Given the description of an element on the screen output the (x, y) to click on. 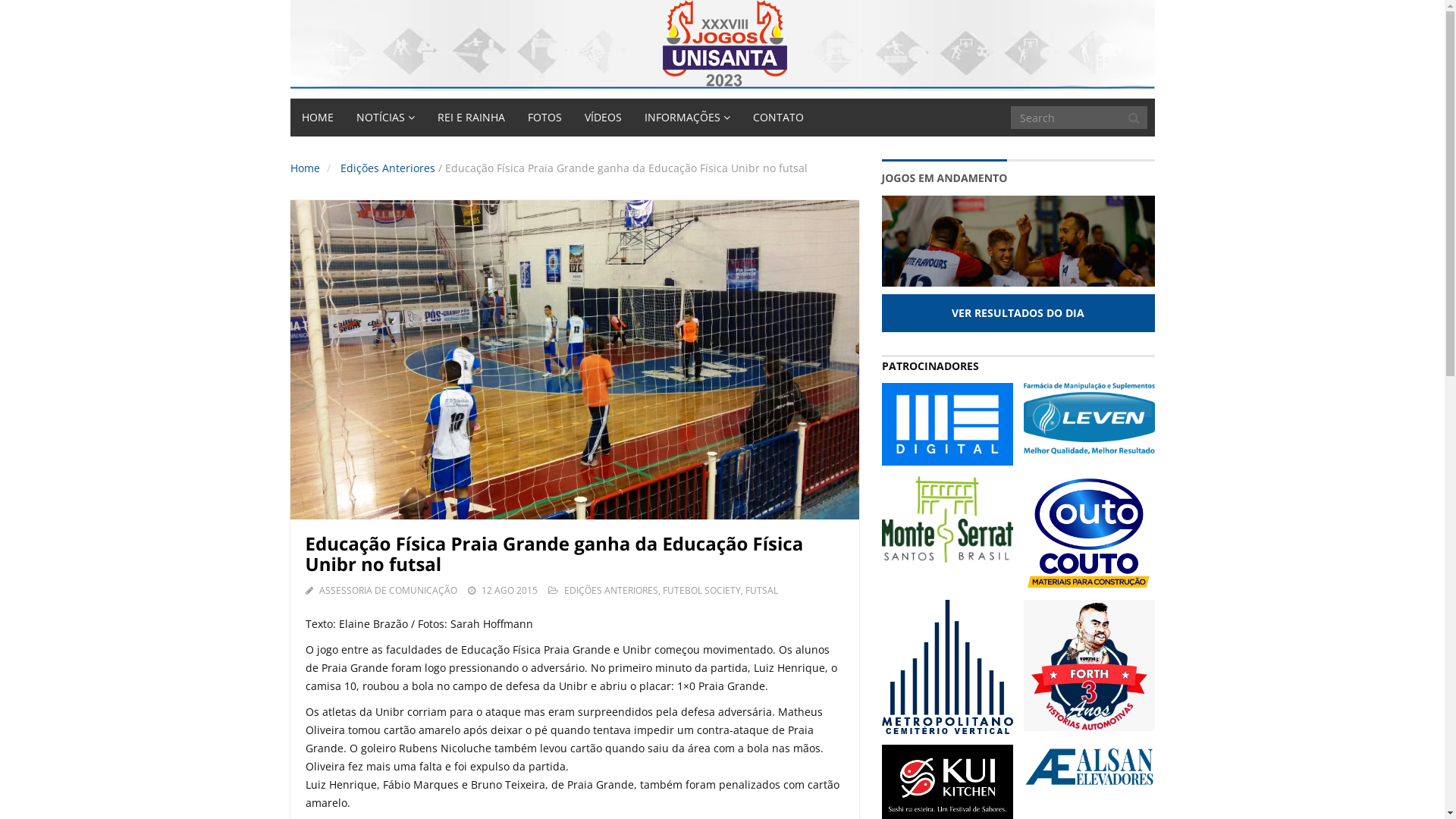
FOTOS Element type: text (543, 117)
VER RESULTADOS DO DIA Element type: text (1017, 313)
FUTEBOL SOCIETY Element type: text (701, 589)
FUTSAL Element type: text (760, 589)
CONTATO Element type: text (778, 117)
REI E RAINHA Element type: text (471, 117)
HOME Element type: text (316, 117)
Home Element type: text (304, 167)
